Given the description of an element on the screen output the (x, y) to click on. 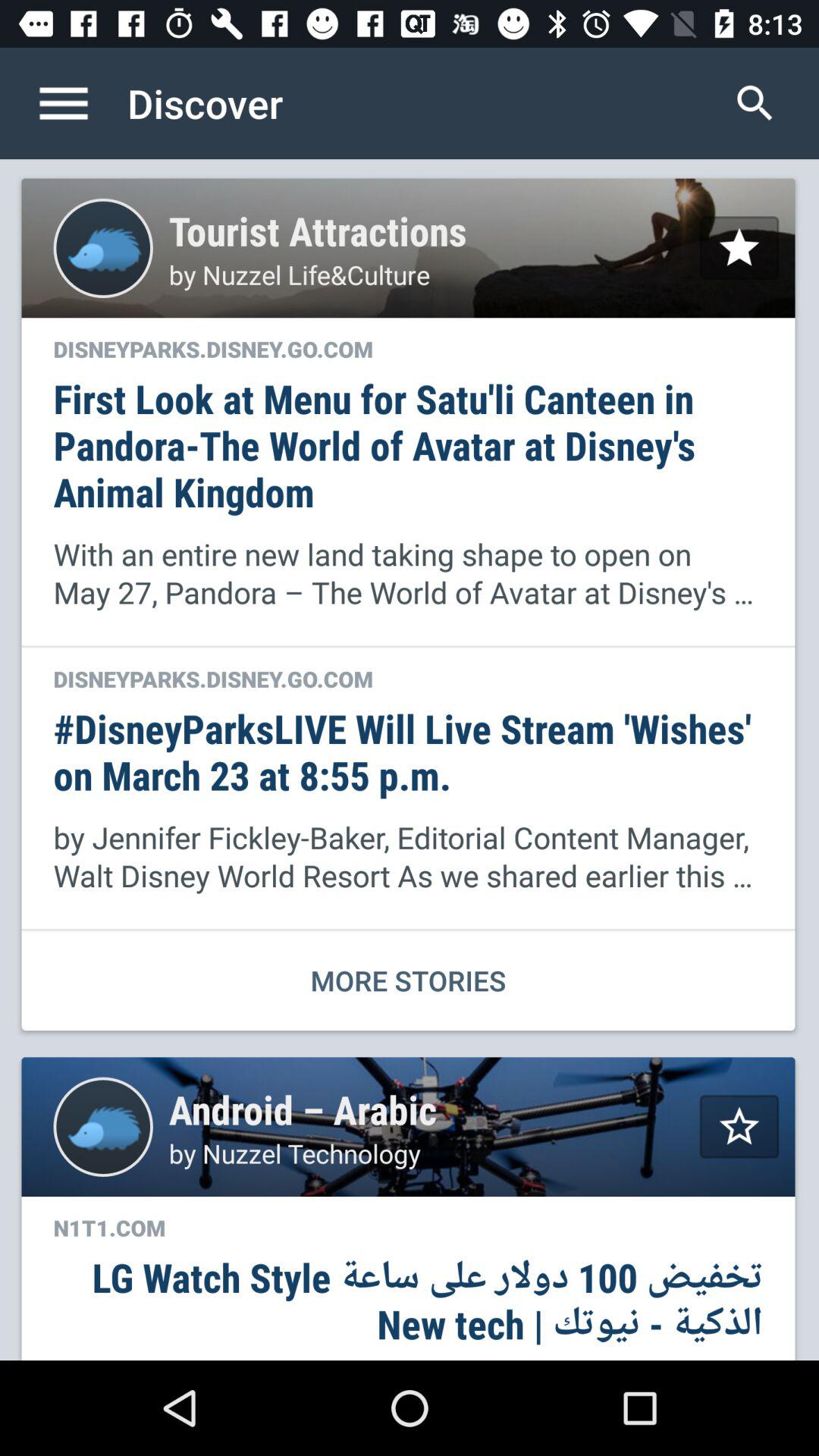
app options (79, 103)
